Given the description of an element on the screen output the (x, y) to click on. 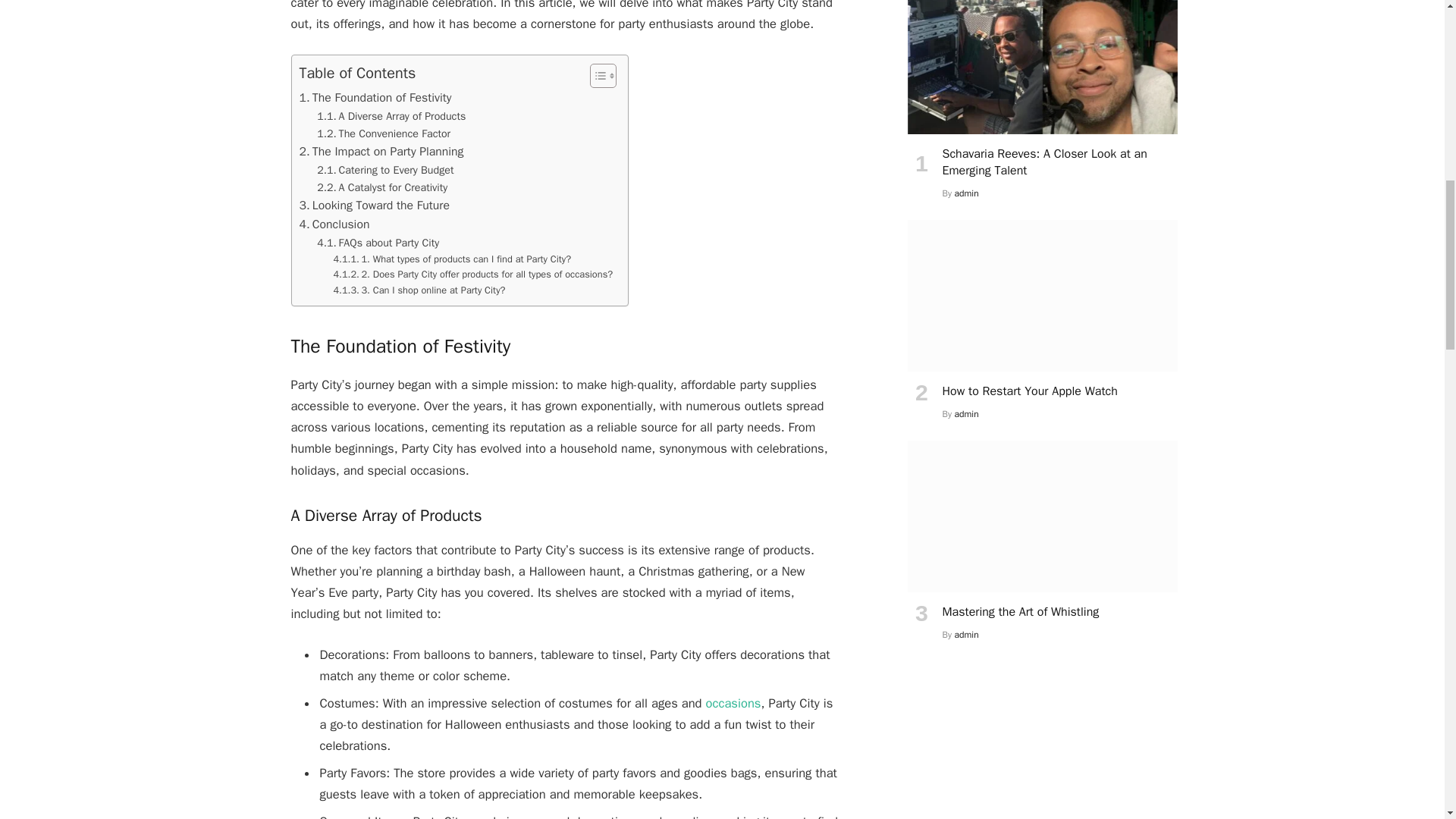
A Diverse Array of Products (391, 116)
The Convenience Factor (383, 133)
The Foundation of Festivity (374, 97)
